Given the description of an element on the screen output the (x, y) to click on. 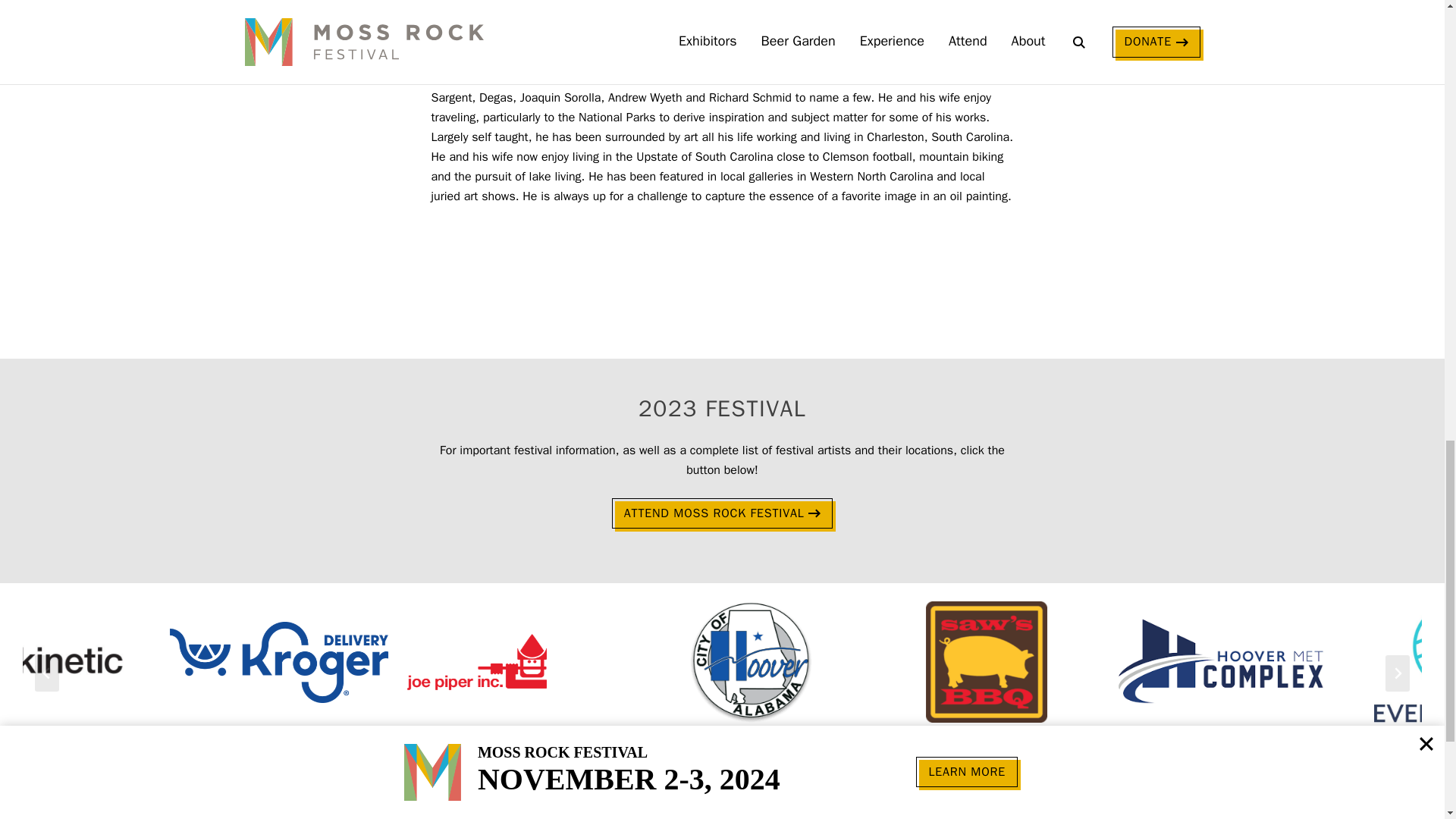
ATTEND MOSS ROCK FESTIVAL (721, 512)
